Given the description of an element on the screen output the (x, y) to click on. 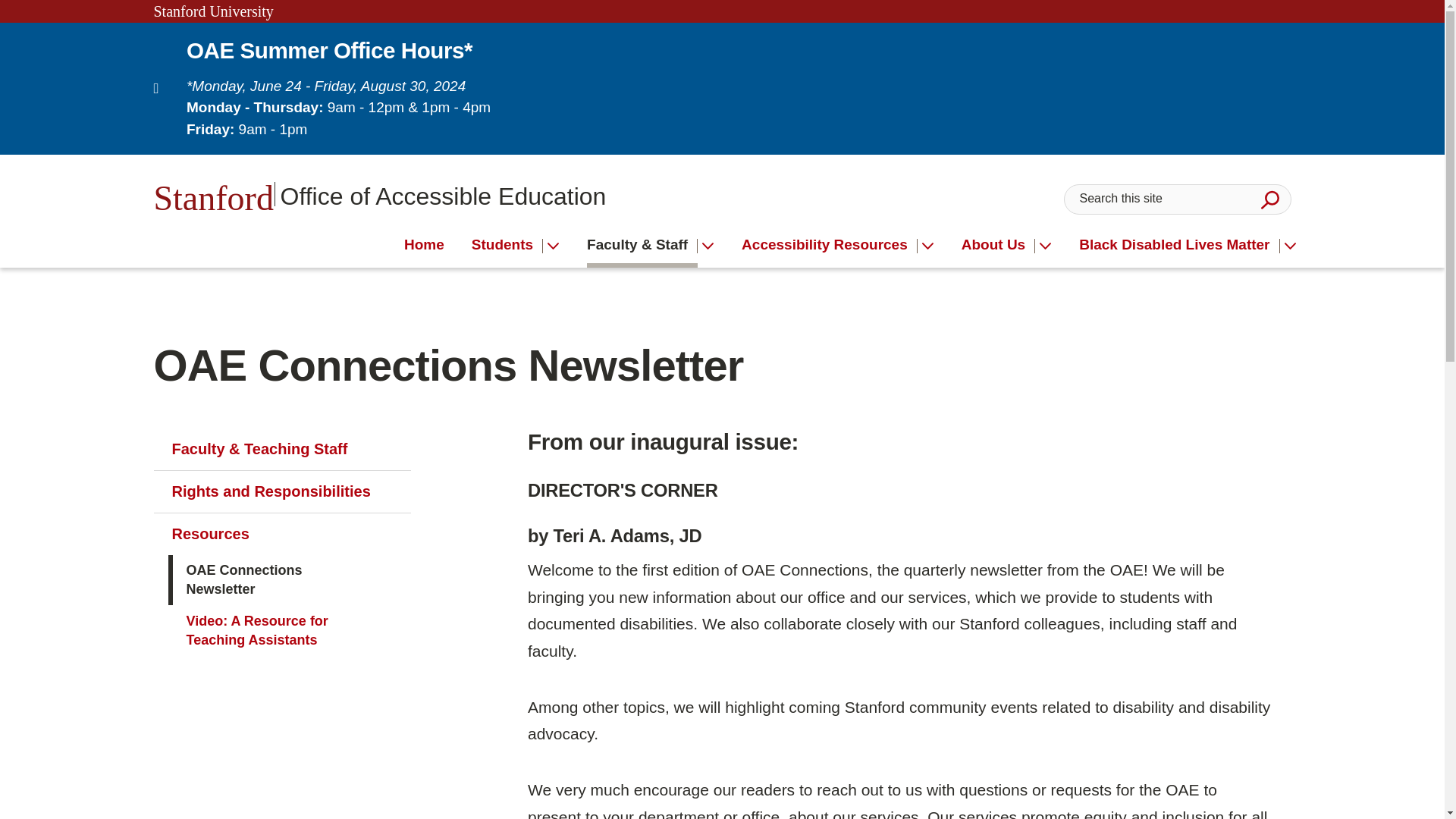
Submit Search (1269, 199)
Skip to main content (378, 193)
Students (424, 244)
